Given the description of an element on the screen output the (x, y) to click on. 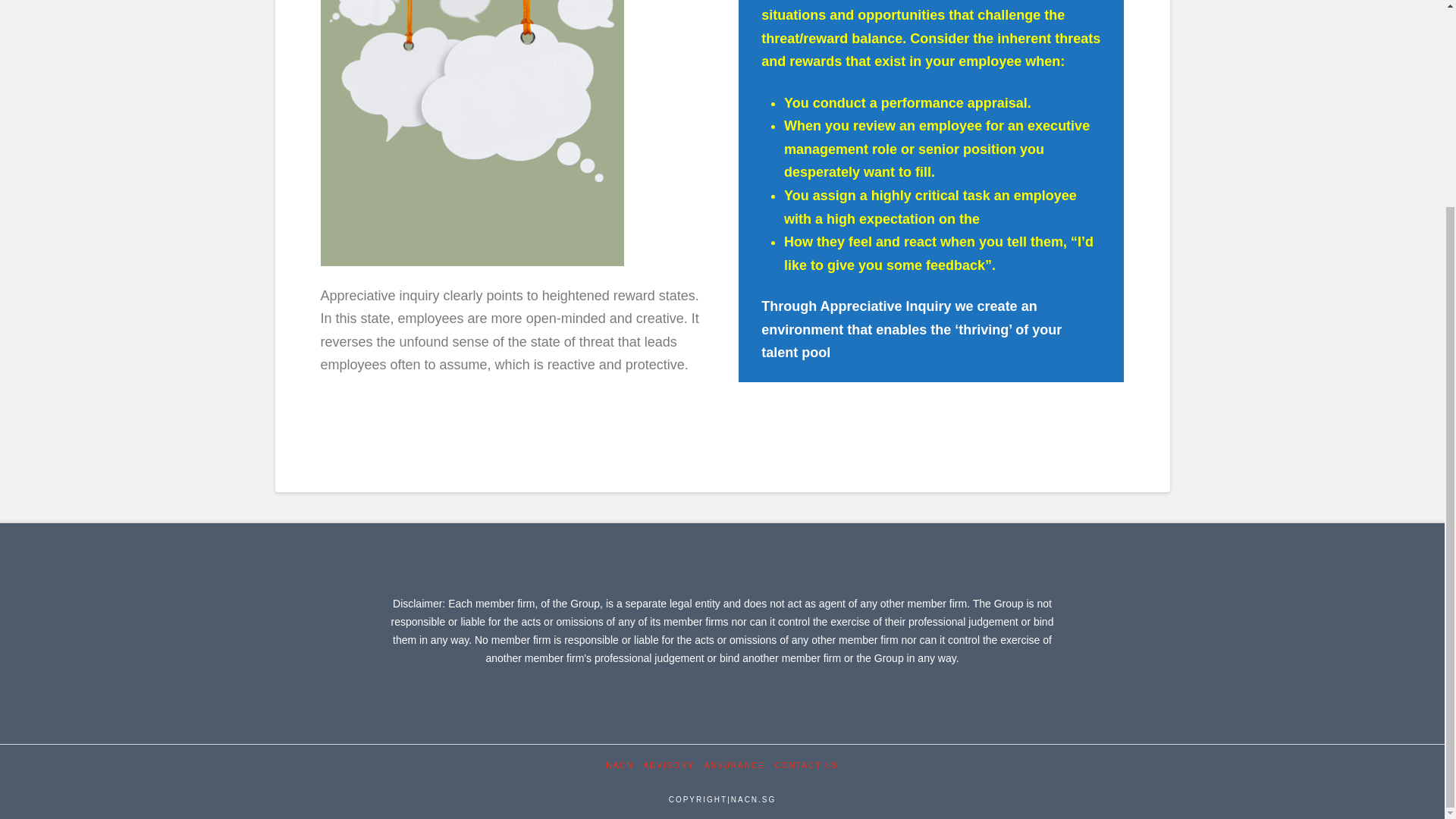
NACN (619, 765)
ASSURANCE (734, 765)
CONTACT US (806, 765)
ADVISORY (668, 765)
